Given the description of an element on the screen output the (x, y) to click on. 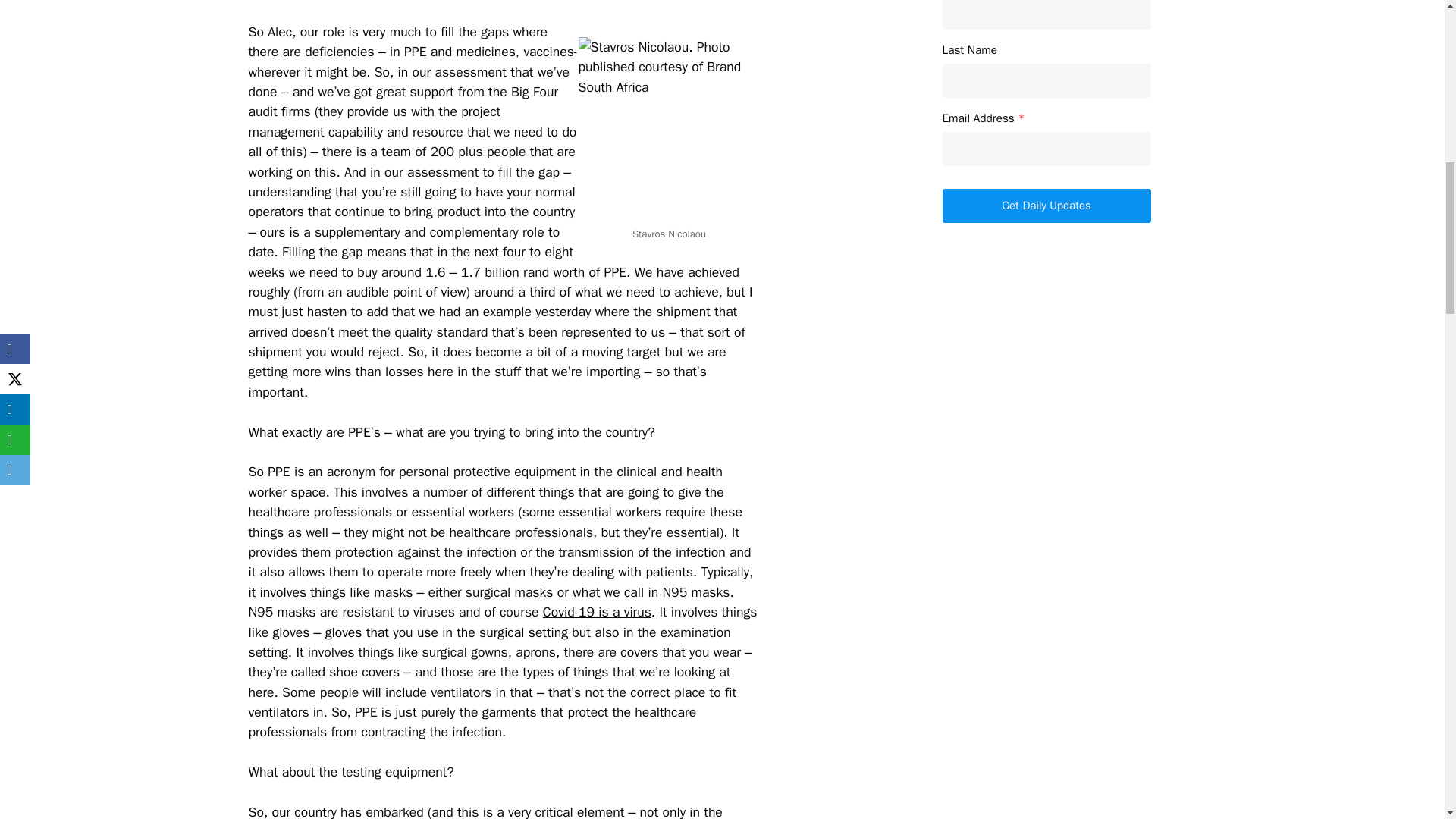
Get Daily Updates (1046, 205)
